Given the description of an element on the screen output the (x, y) to click on. 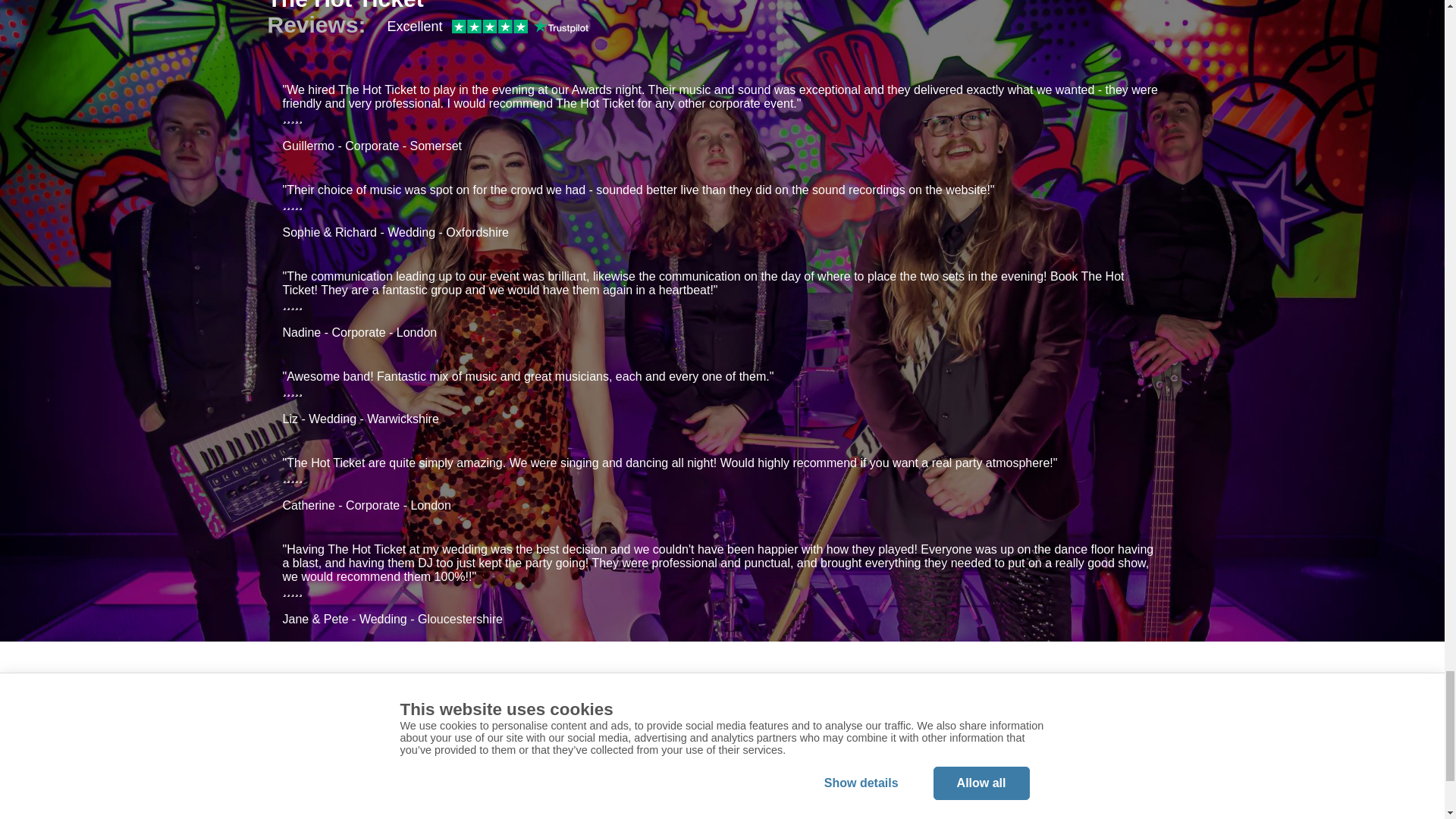
Customer reviews powered by Trustpilot (487, 26)
